Given the description of an element on the screen output the (x, y) to click on. 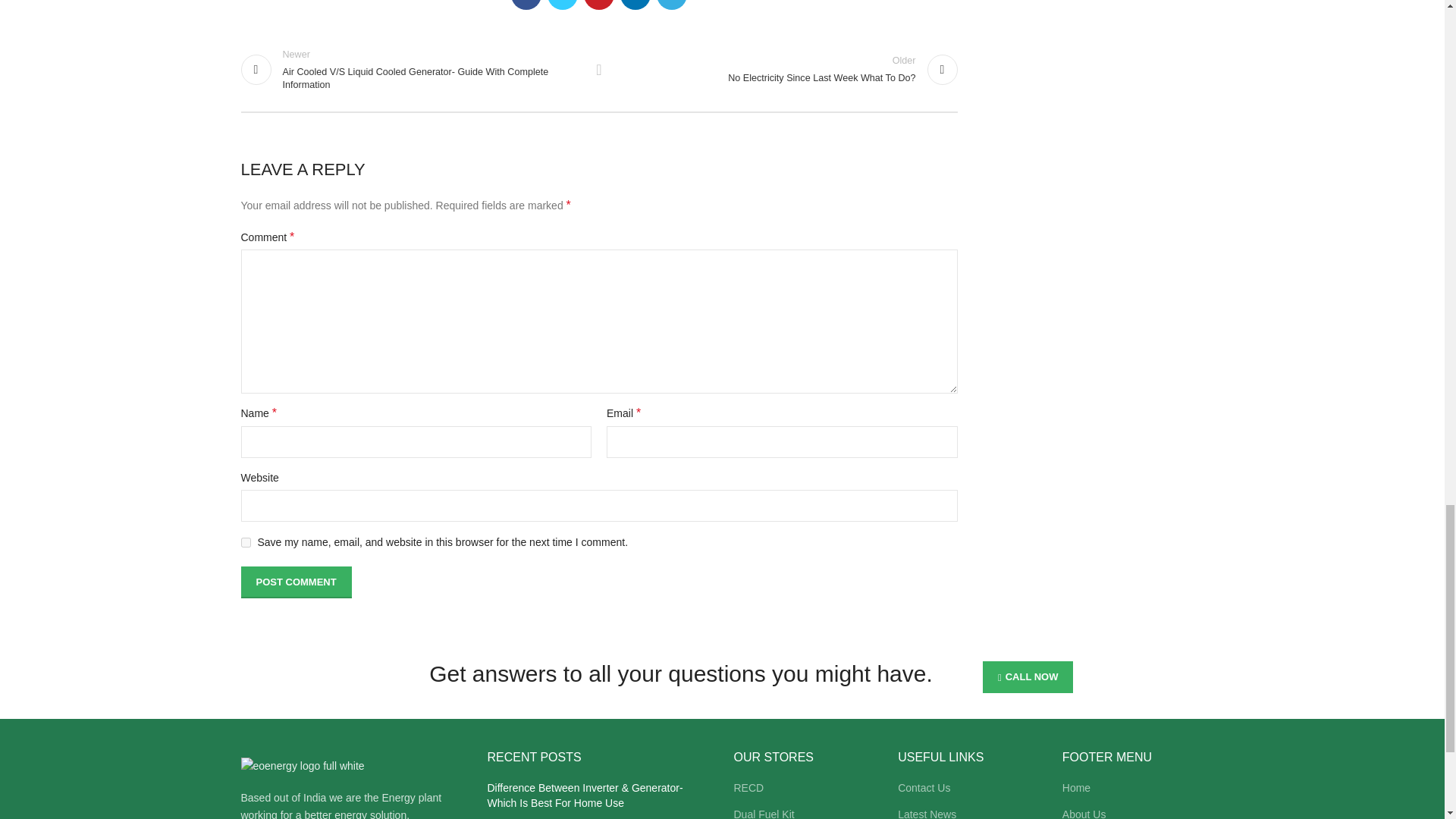
Post Comment (296, 582)
Post Comment (296, 582)
Back to list (598, 69)
eoenergy-full-white-logo (303, 765)
yes (245, 542)
